Given the description of an element on the screen output the (x, y) to click on. 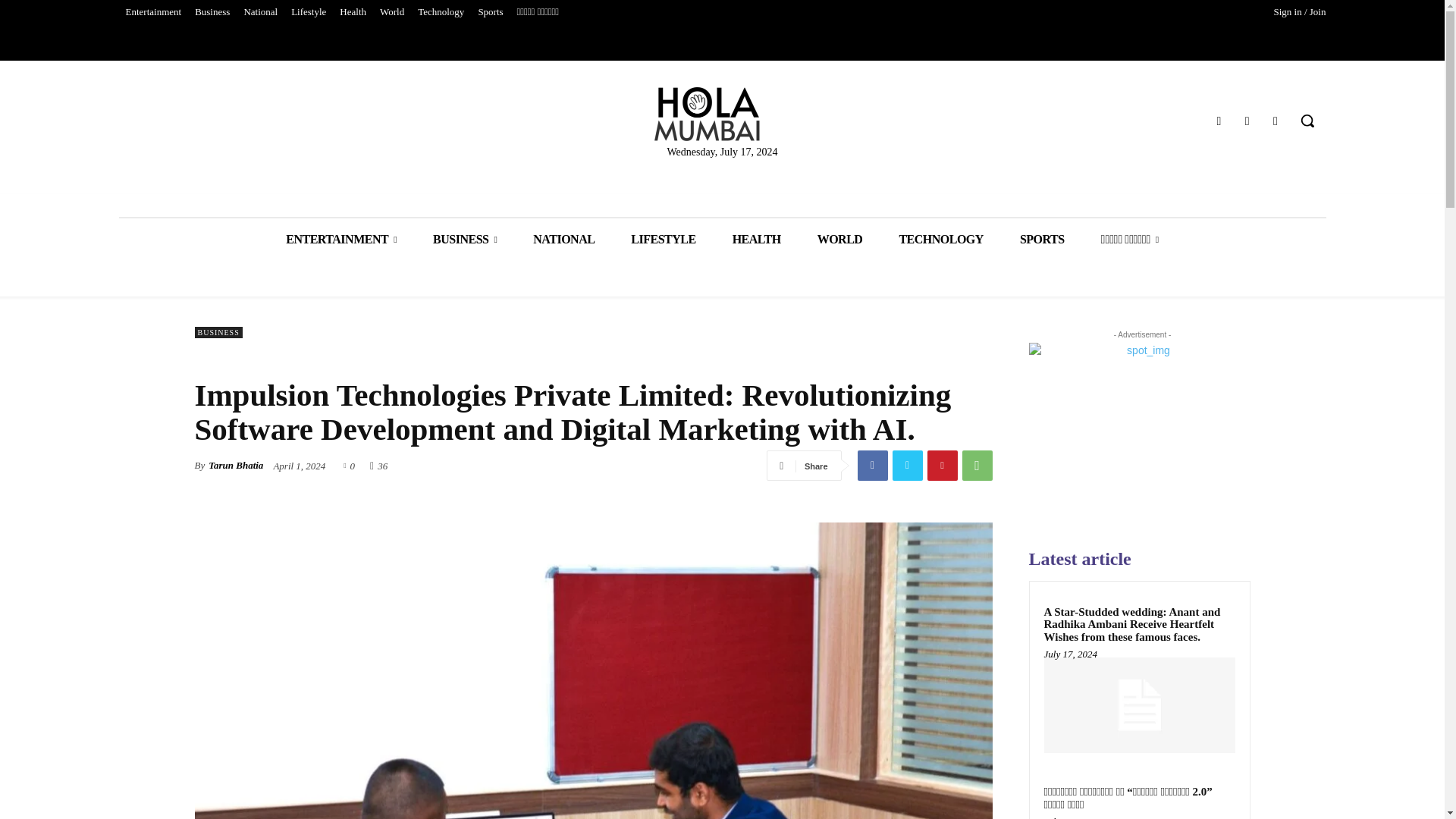
Technology (440, 12)
National (259, 12)
Business (211, 12)
Entertainment (152, 12)
World (391, 12)
Twitter (1246, 120)
Health (352, 12)
Lifestyle (308, 12)
Youtube (1275, 120)
Sports (489, 12)
Facebook (1218, 120)
